Given the description of an element on the screen output the (x, y) to click on. 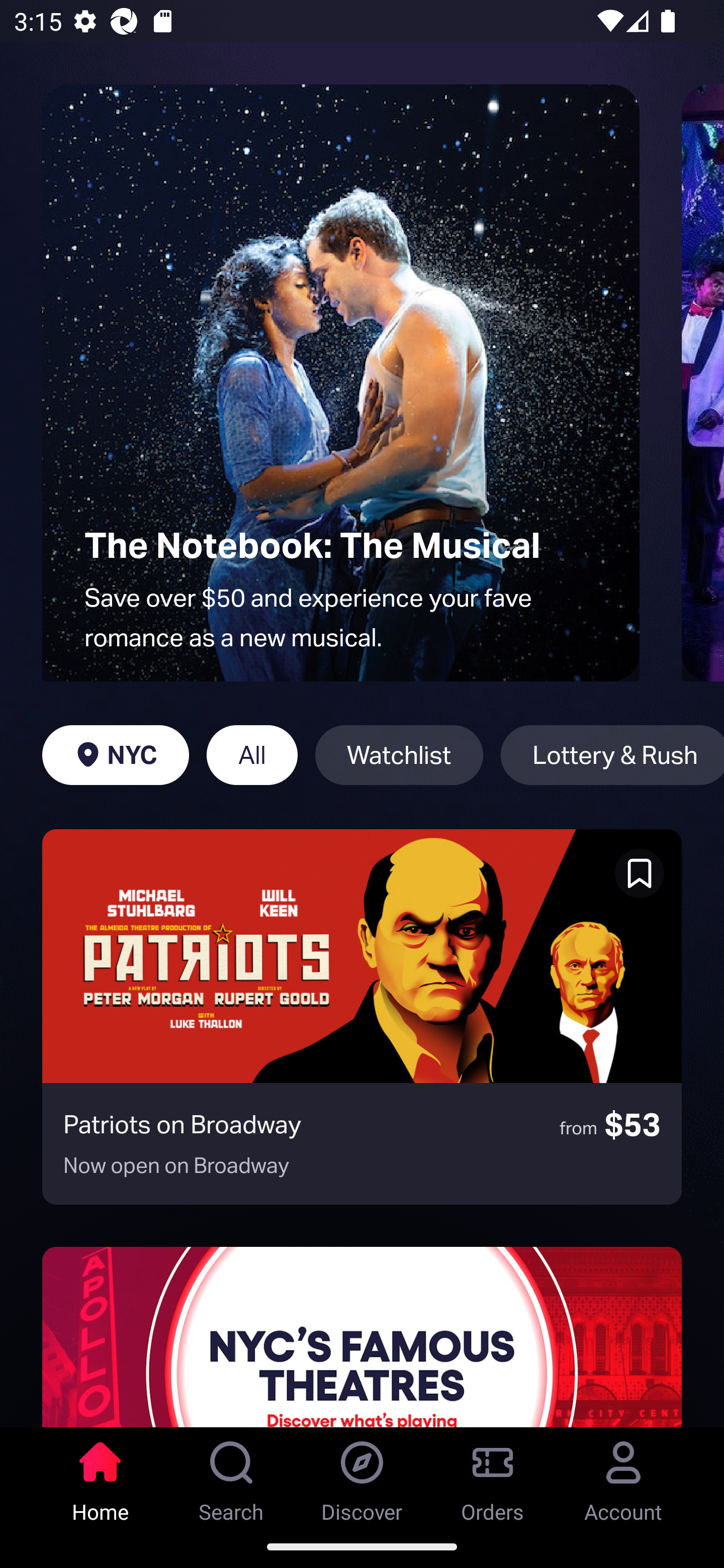
NYC (114, 754)
All (251, 754)
Watchlist (398, 754)
Lottery & Rush (612, 754)
Patriots on Broadway from $53 Now open on Broadway (361, 1016)
Search (230, 1475)
Discover (361, 1475)
Orders (492, 1475)
Account (623, 1475)
